Given the description of an element on the screen output the (x, y) to click on. 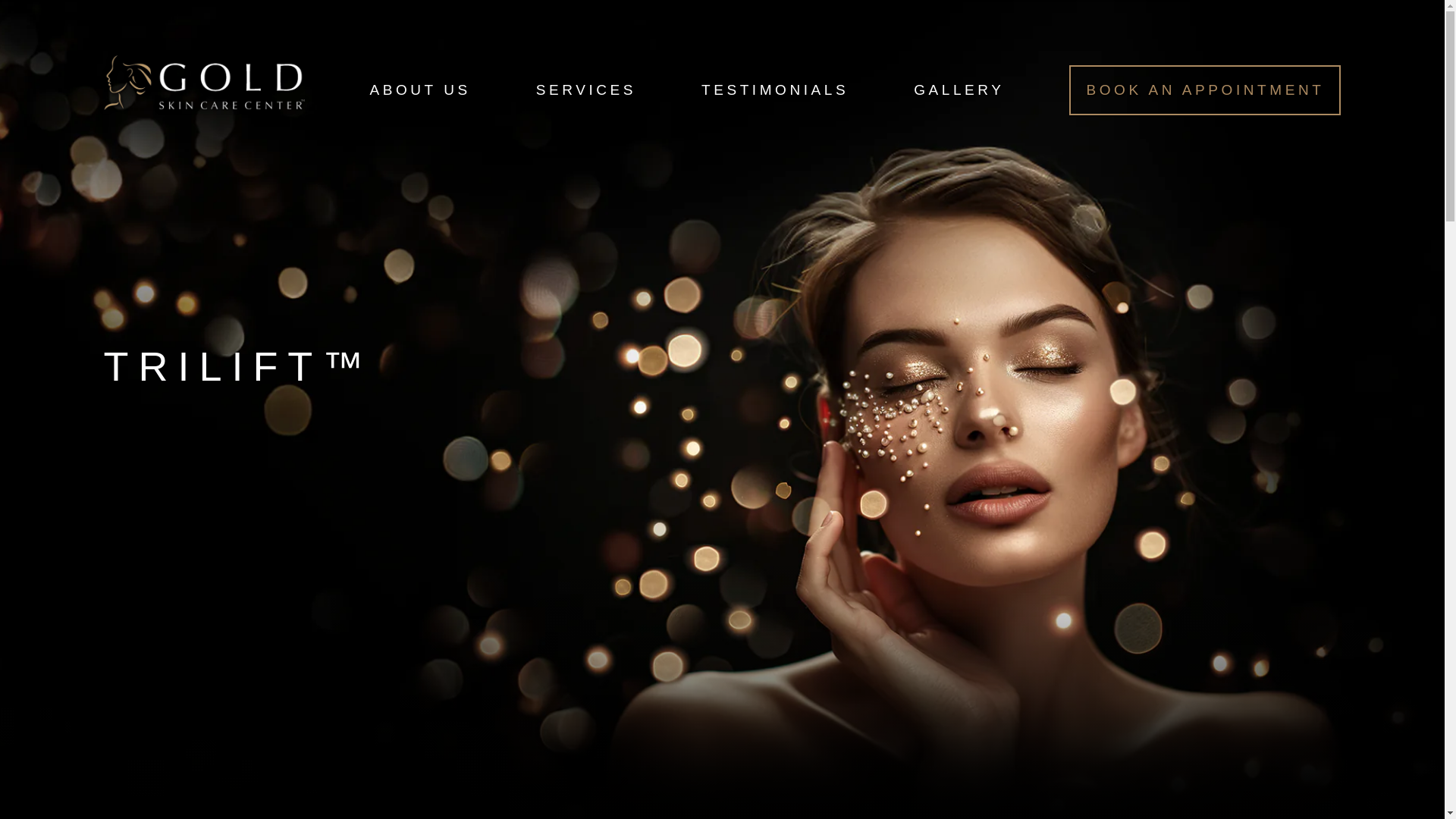
ABOUT US (419, 89)
SERVICES (585, 89)
TESTIMONIALS (774, 89)
BOOK AN APPOINTMENT (1204, 90)
GALLERY (959, 89)
